Given the description of an element on the screen output the (x, y) to click on. 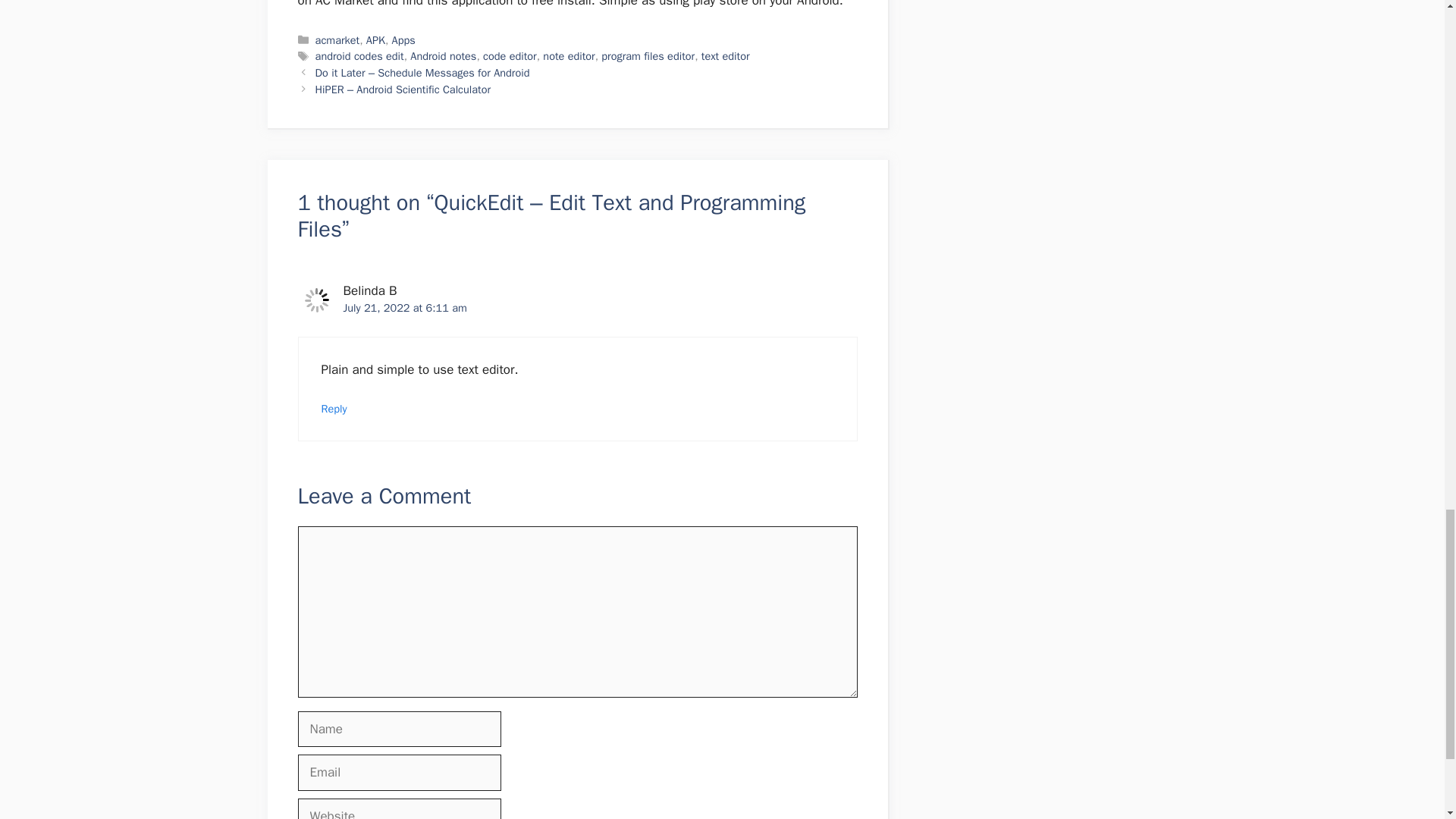
acmarket (337, 39)
Apps (402, 39)
code editor (510, 56)
APK (375, 39)
Reply (334, 408)
text editor (725, 56)
Android notes (443, 56)
July 21, 2022 at 6:11 am (403, 307)
android codes edit (359, 56)
program files editor (647, 56)
note editor (568, 56)
